Given the description of an element on the screen output the (x, y) to click on. 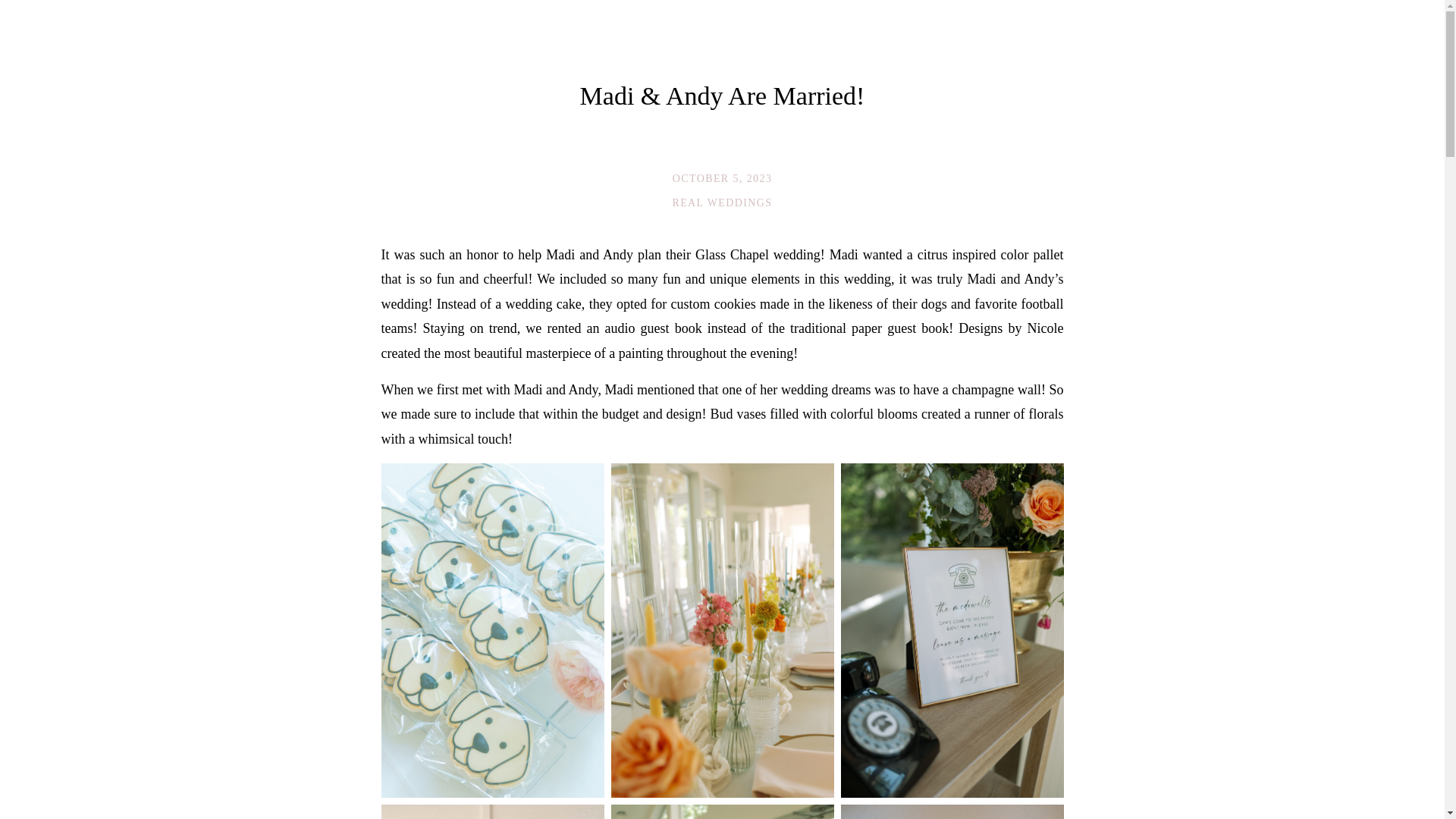
PORTFOLIO (200, 18)
INVESTMENT (1236, 25)
ABOUT (105, 18)
REAL WEDDINGS (721, 202)
BLOG (1327, 25)
HOME (38, 18)
